Given the description of an element on the screen output the (x, y) to click on. 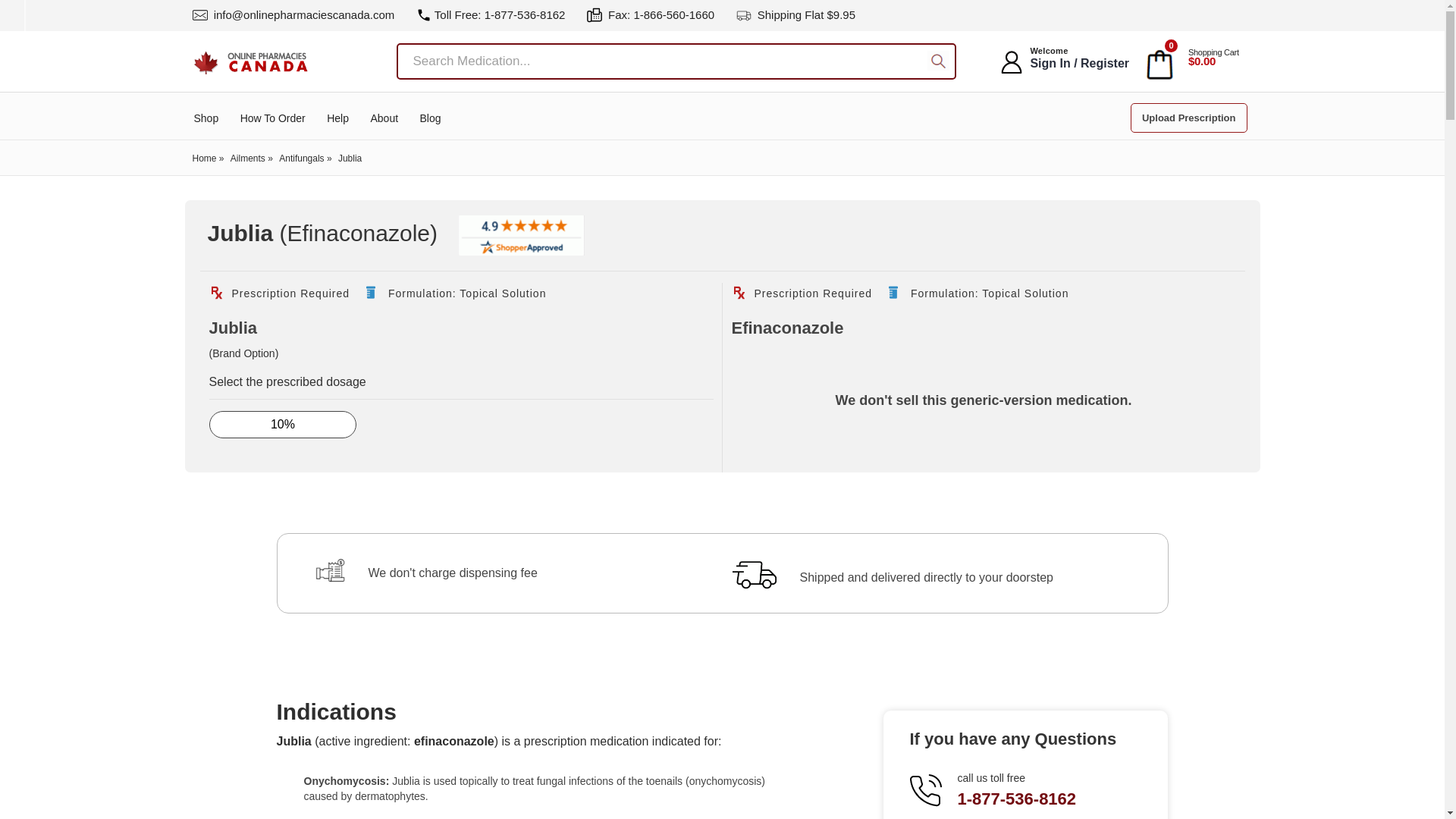
Help (337, 118)
How To Order (272, 118)
Blog (430, 118)
Fax: 1-866-560-1660 (650, 14)
Shop (206, 118)
0 (1158, 62)
Search (938, 62)
Toll Free: 1-877-536-8162 (491, 14)
About (383, 118)
